Given the description of an element on the screen output the (x, y) to click on. 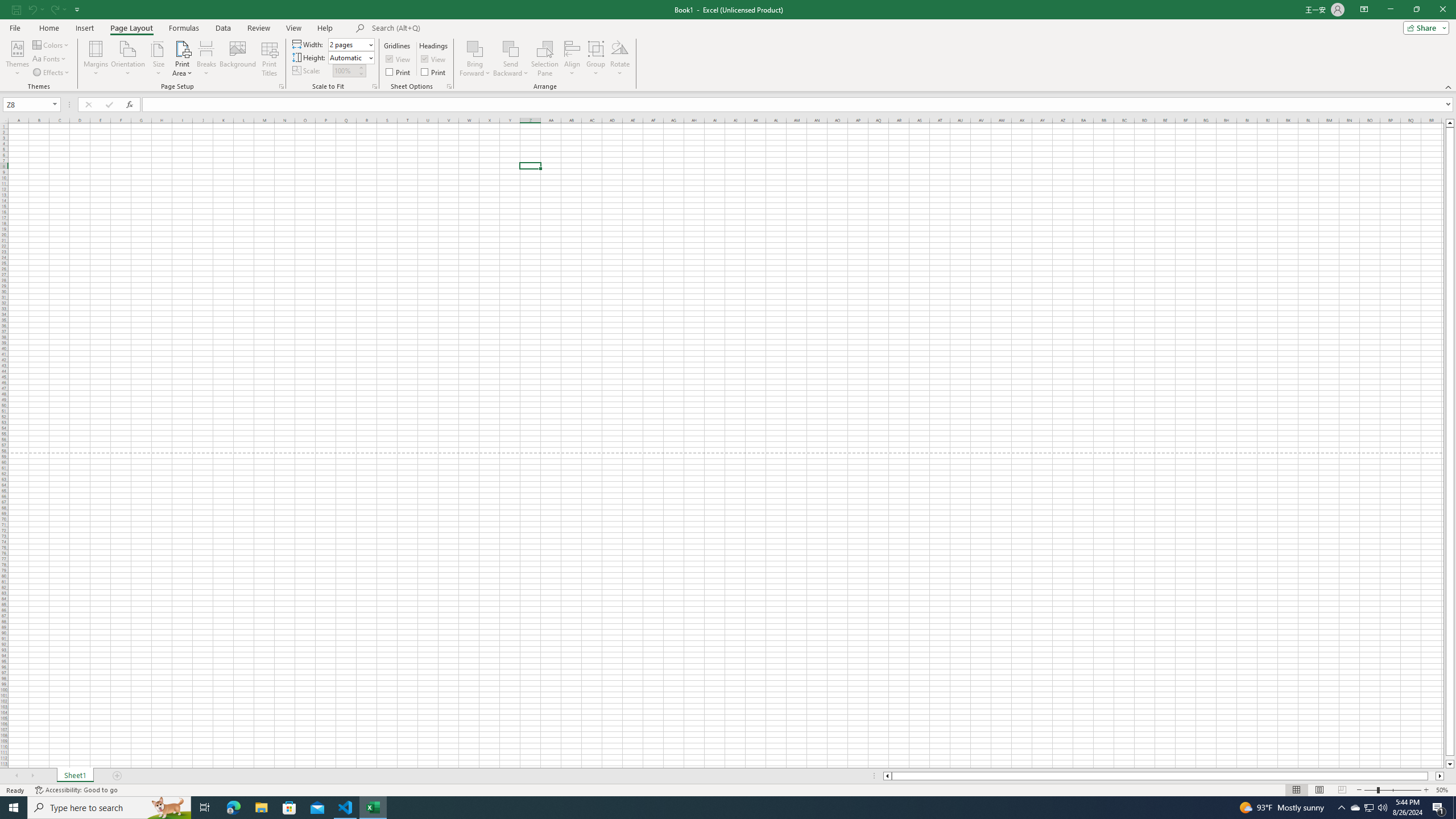
Effects (51, 72)
Height (347, 57)
More (360, 67)
Sheet Options (449, 85)
Width (350, 44)
